Given the description of an element on the screen output the (x, y) to click on. 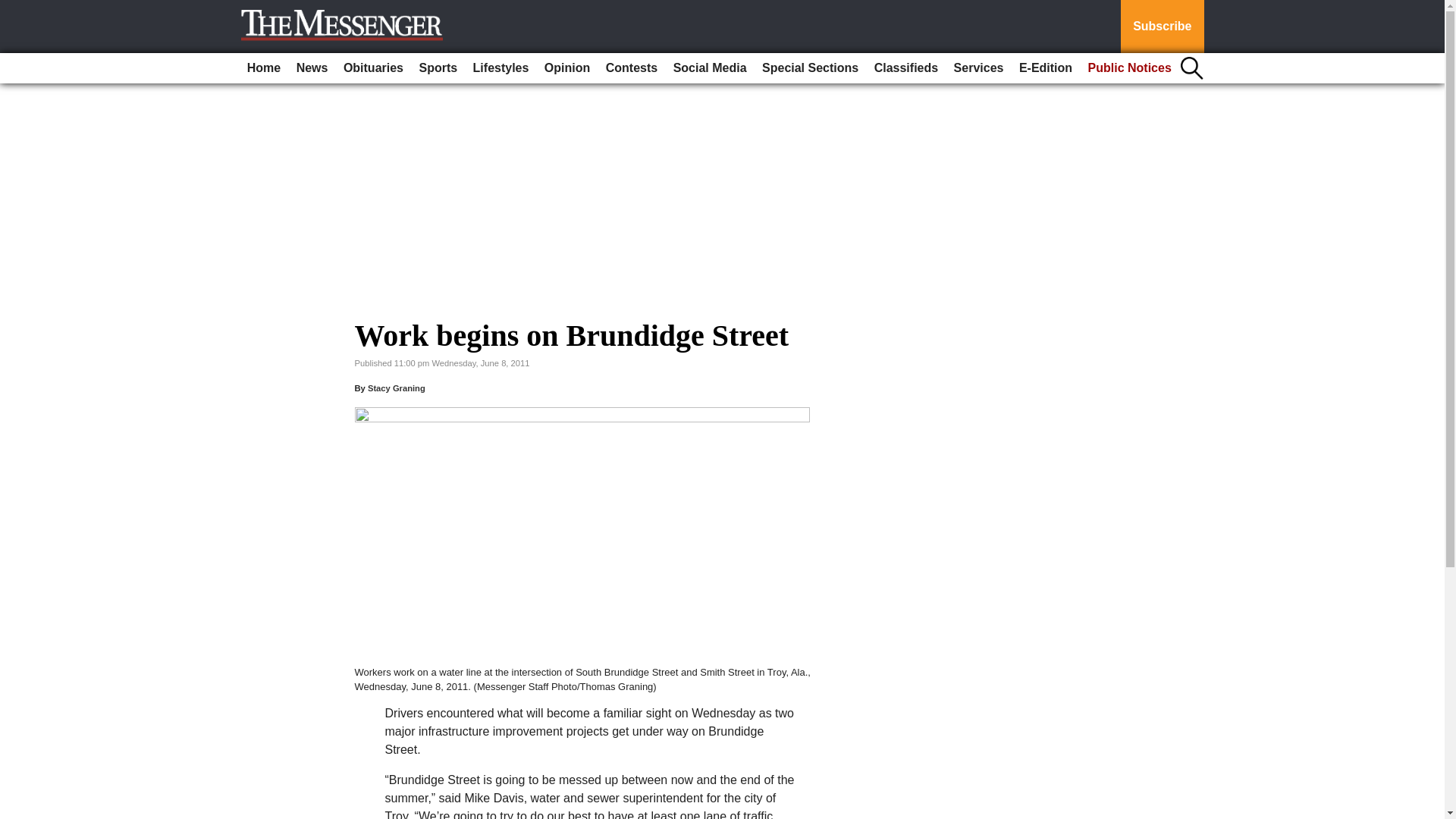
Classifieds (905, 68)
Opinion (566, 68)
News (311, 68)
Subscribe (1162, 26)
Home (263, 68)
Sports (437, 68)
Contests (631, 68)
E-Edition (1045, 68)
Social Media (709, 68)
Obituaries (373, 68)
Lifestyles (501, 68)
6.9.Construction.tg.1.web (582, 536)
Public Notices (1129, 68)
Special Sections (809, 68)
Services (978, 68)
